Given the description of an element on the screen output the (x, y) to click on. 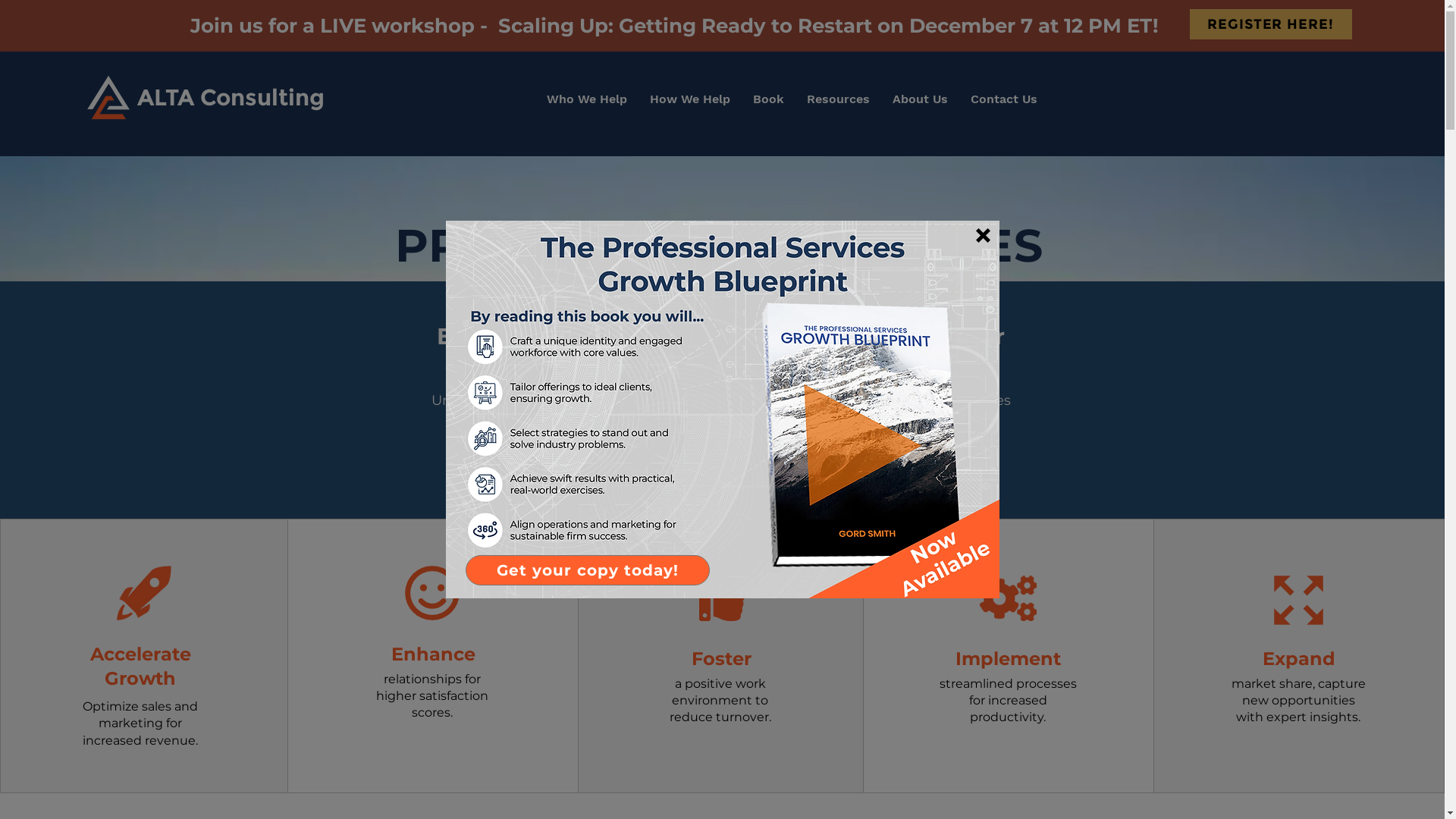
REGISTER HERE! Element type: text (1270, 24)
About Us Element type: text (919, 98)
ALTA Consulting Element type: text (230, 97)
Book Element type: text (768, 98)
Schedule a Consultation Element type: text (718, 457)
Back to site Element type: hover (983, 235)
Contact Us Element type: text (1003, 98)
